Given the description of an element on the screen output the (x, y) to click on. 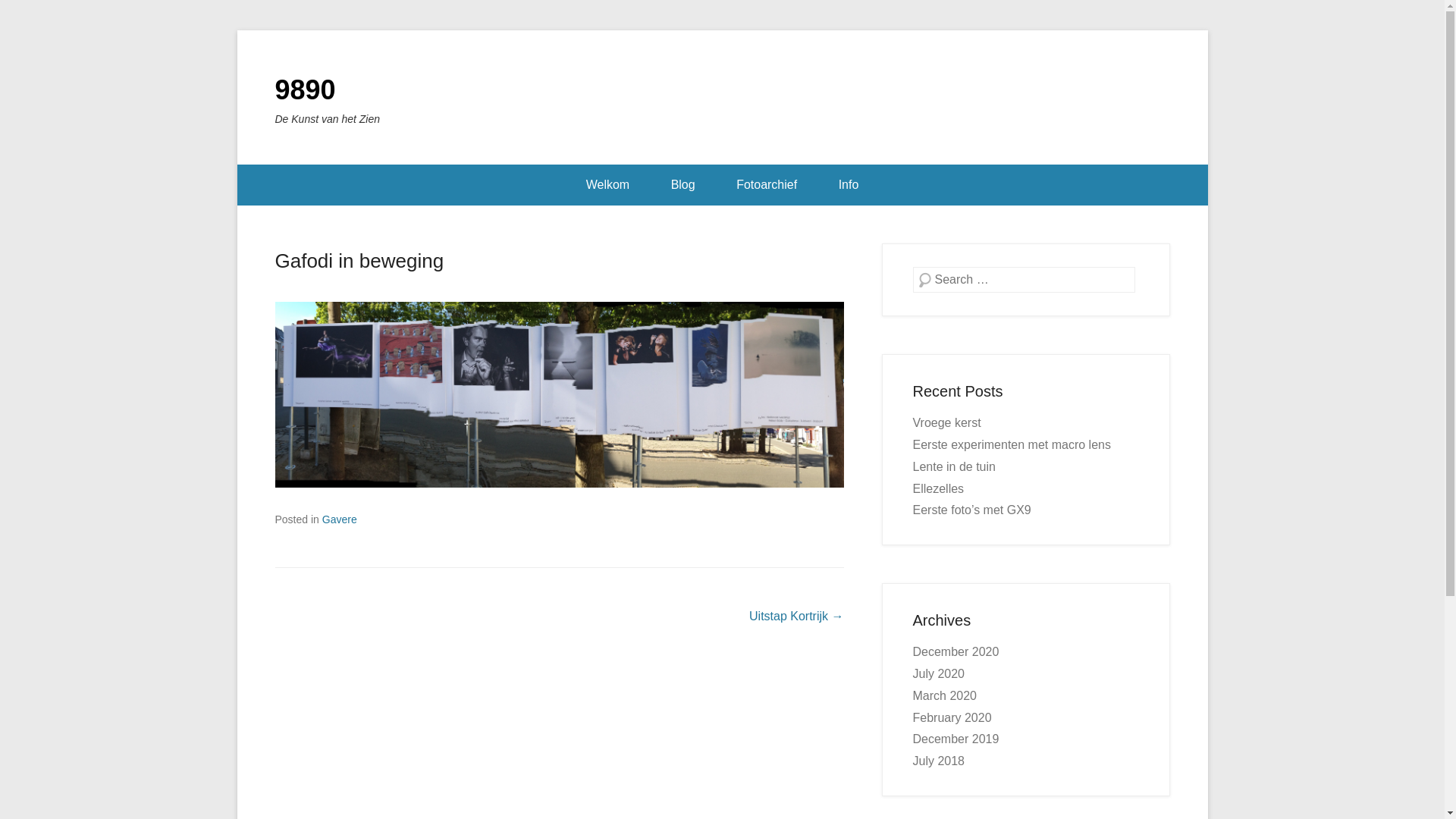
Vroege kerst Element type: text (947, 422)
Welkom Element type: text (608, 184)
Blog Element type: text (683, 184)
December 2019 Element type: text (956, 738)
December 2020 Element type: text (956, 651)
July 2018 Element type: text (939, 760)
Lente in de tuin Element type: text (954, 466)
Fotoarchief Element type: text (766, 184)
July 2020 Element type: text (939, 673)
Gavere Element type: text (339, 519)
Ellezelles Element type: text (938, 488)
Search Element type: text (32, 15)
9890 Element type: text (304, 89)
March 2020 Element type: text (945, 695)
Eerste experimenten met macro lens Element type: text (1011, 444)
February 2020 Element type: text (952, 717)
Info Element type: text (848, 184)
Gafodi in beweging Element type: text (358, 260)
